Given the description of an element on the screen output the (x, y) to click on. 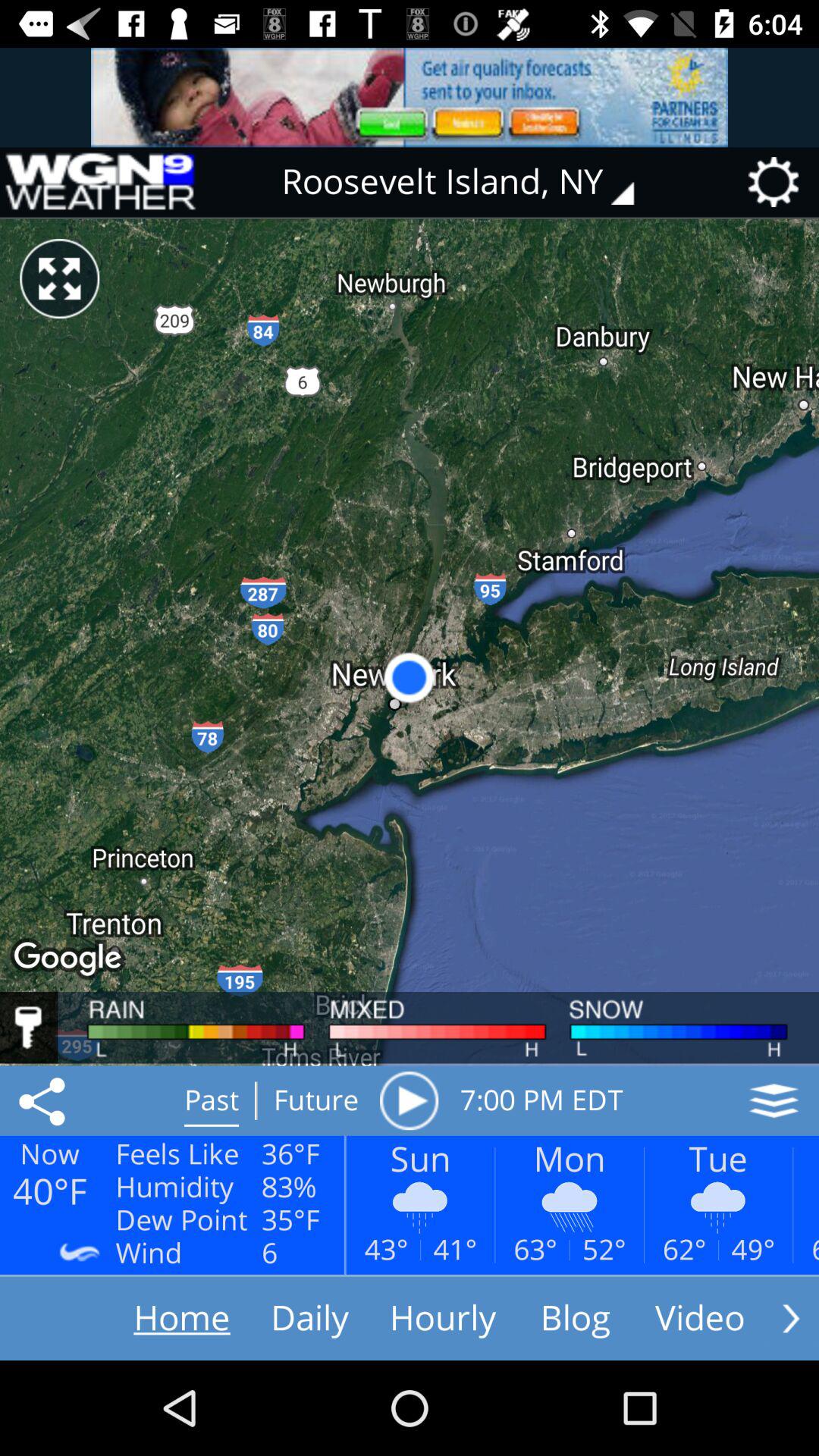
open the icon next to the future icon (409, 1100)
